Given the description of an element on the screen output the (x, y) to click on. 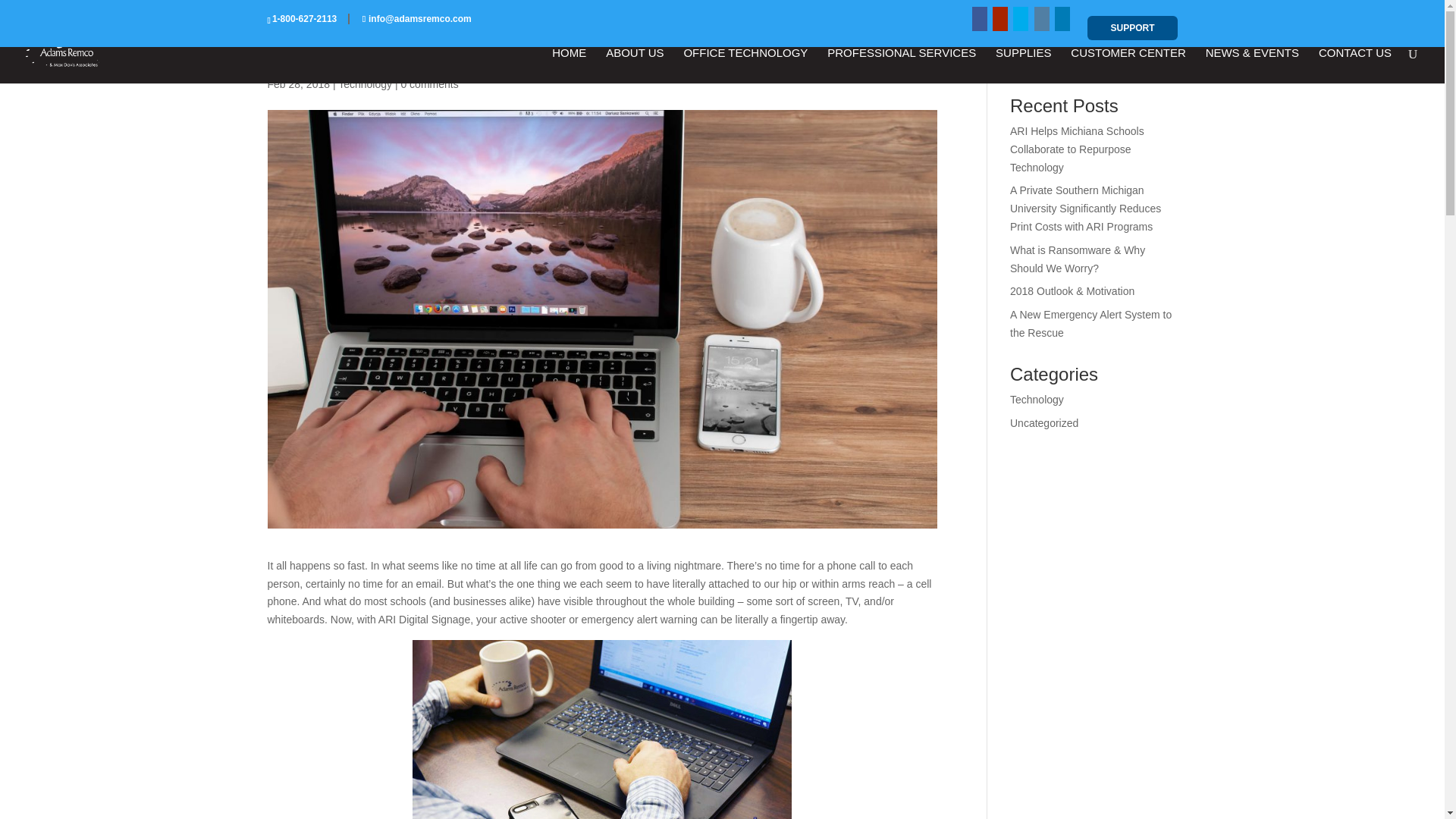
SUPPORT (1131, 27)
ABOUT US (634, 65)
HOME (568, 65)
CONTACT US (1355, 65)
Search (1150, 59)
CUSTOMER CENTER (1127, 65)
Technology (364, 83)
OFFICE TECHNOLOGY (745, 65)
SUPPLIES (1023, 65)
PROFESSIONAL SERVICES (901, 65)
